Given the description of an element on the screen output the (x, y) to click on. 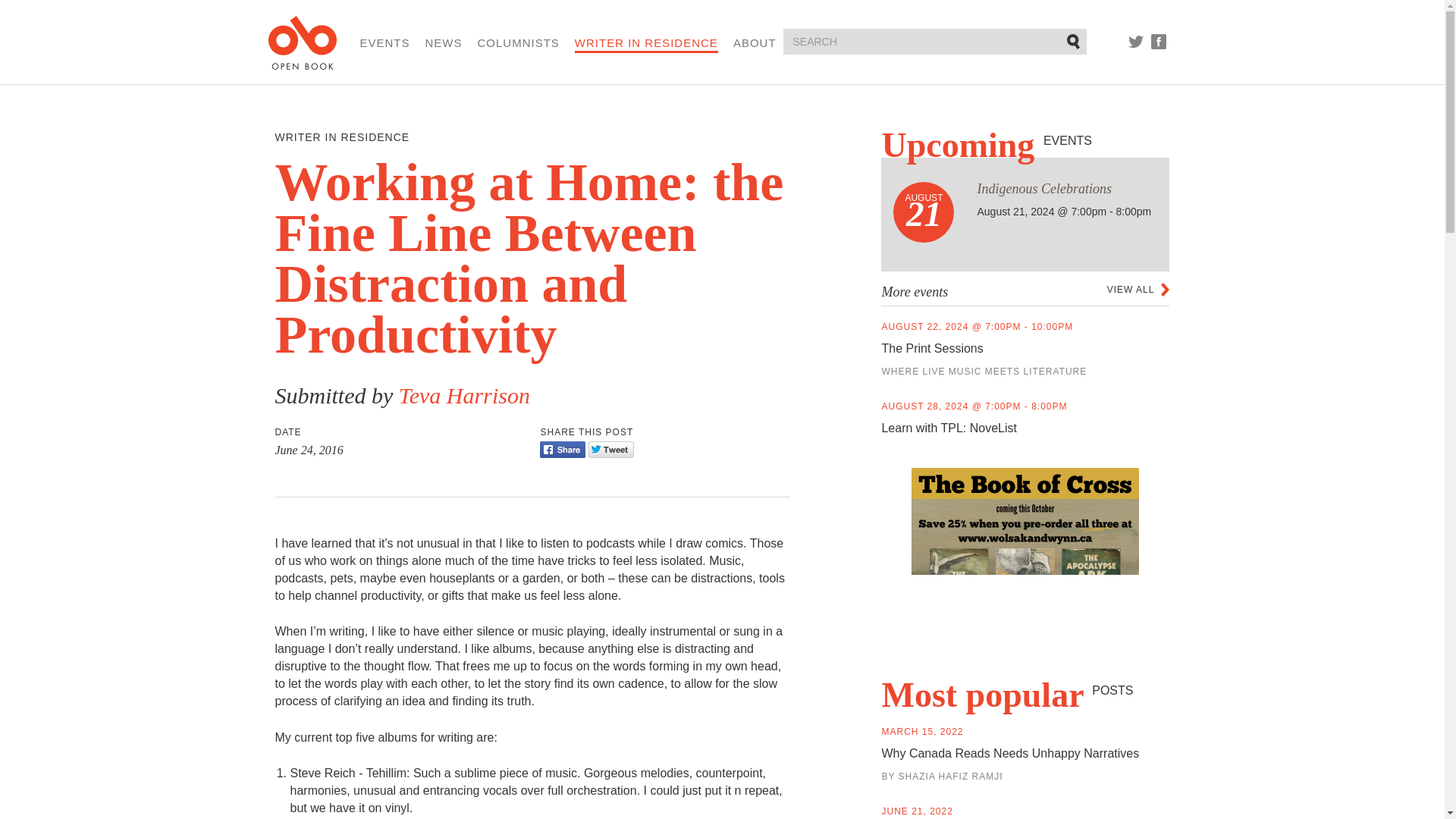
COLUMNISTS (518, 43)
NEWS (444, 43)
WRITER IN RESIDENCE (646, 44)
Indigenous Celebrations (1044, 188)
VIEW ALL (1138, 289)
EVENTS (384, 43)
Share (562, 449)
TWITTER (1135, 41)
Teva Harrison (463, 395)
